Given the description of an element on the screen output the (x, y) to click on. 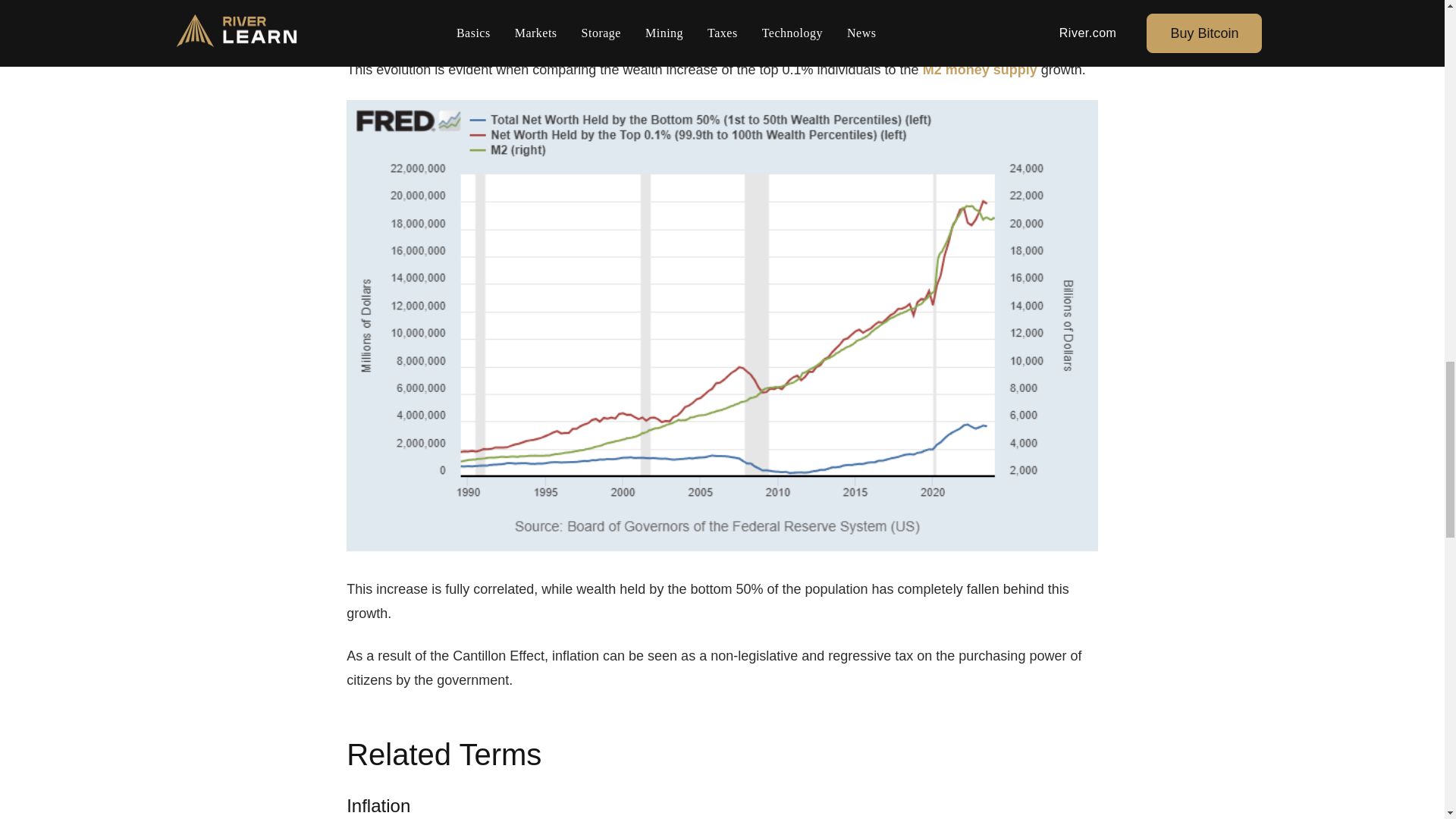
M2 money supply (979, 69)
Inflation (378, 805)
